Given the description of an element on the screen output the (x, y) to click on. 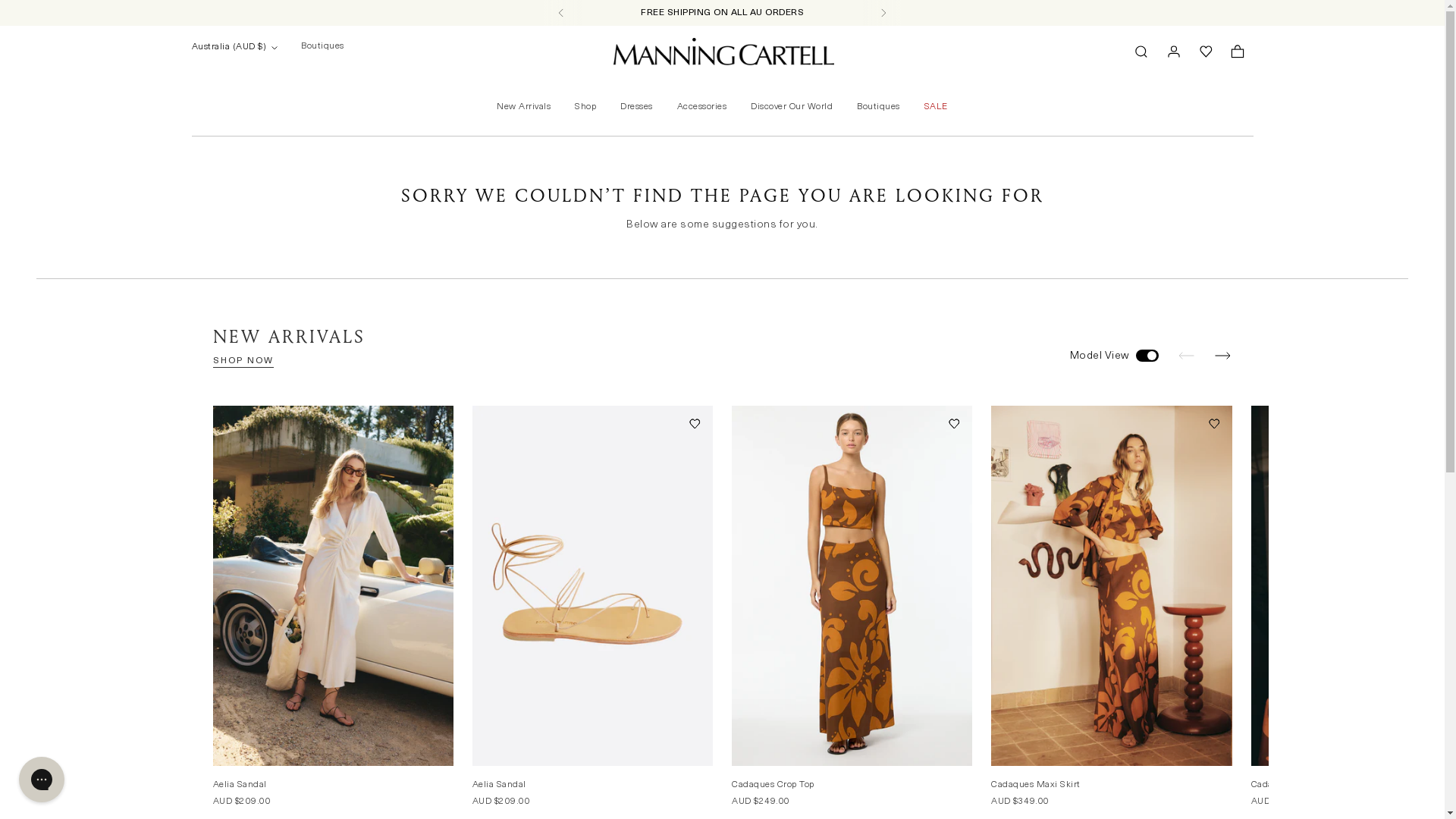
FREE SHIPPING ON ALL AU ORDERS Element type: text (721, 12)
Add to wishlist Element type: text (953, 422)
Australia (AUD $) Element type: text (234, 46)
Gorgias live chat messenger Element type: hover (41, 779)
Add to wishlist Element type: text (435, 423)
Add to wishlist Element type: text (694, 422)
Previous Element type: hover (560, 12)
Wishlist Element type: text (1205, 51)
Add to wishlist Element type: text (1213, 422)
Aelia Sandal Element type: text (239, 784)
Add to wishlist Element type: text (1213, 423)
Cadaques Maxi Skirt Element type: text (1035, 784)
Add to wishlist Element type: text (694, 423)
Shop Element type: text (585, 105)
Dresses Element type: text (636, 105)
Next Element type: hover (883, 12)
Cadaques Crop Top Element type: text (772, 784)
Aelia Sandal Element type: text (499, 784)
Add to wishlist Element type: text (435, 422)
Discover Our World Element type: text (791, 105)
New Arrivals Element type: text (523, 105)
Boutiques Element type: text (878, 105)
Boutiques Element type: text (322, 51)
SHOP NOW Element type: text (242, 361)
Accessories Element type: text (702, 105)
Add to wishlist Element type: text (953, 423)
SALE Element type: text (935, 105)
Cadaques Midi Dress Element type: text (1296, 784)
0
Wishlist Element type: text (1237, 51)
